Given the description of an element on the screen output the (x, y) to click on. 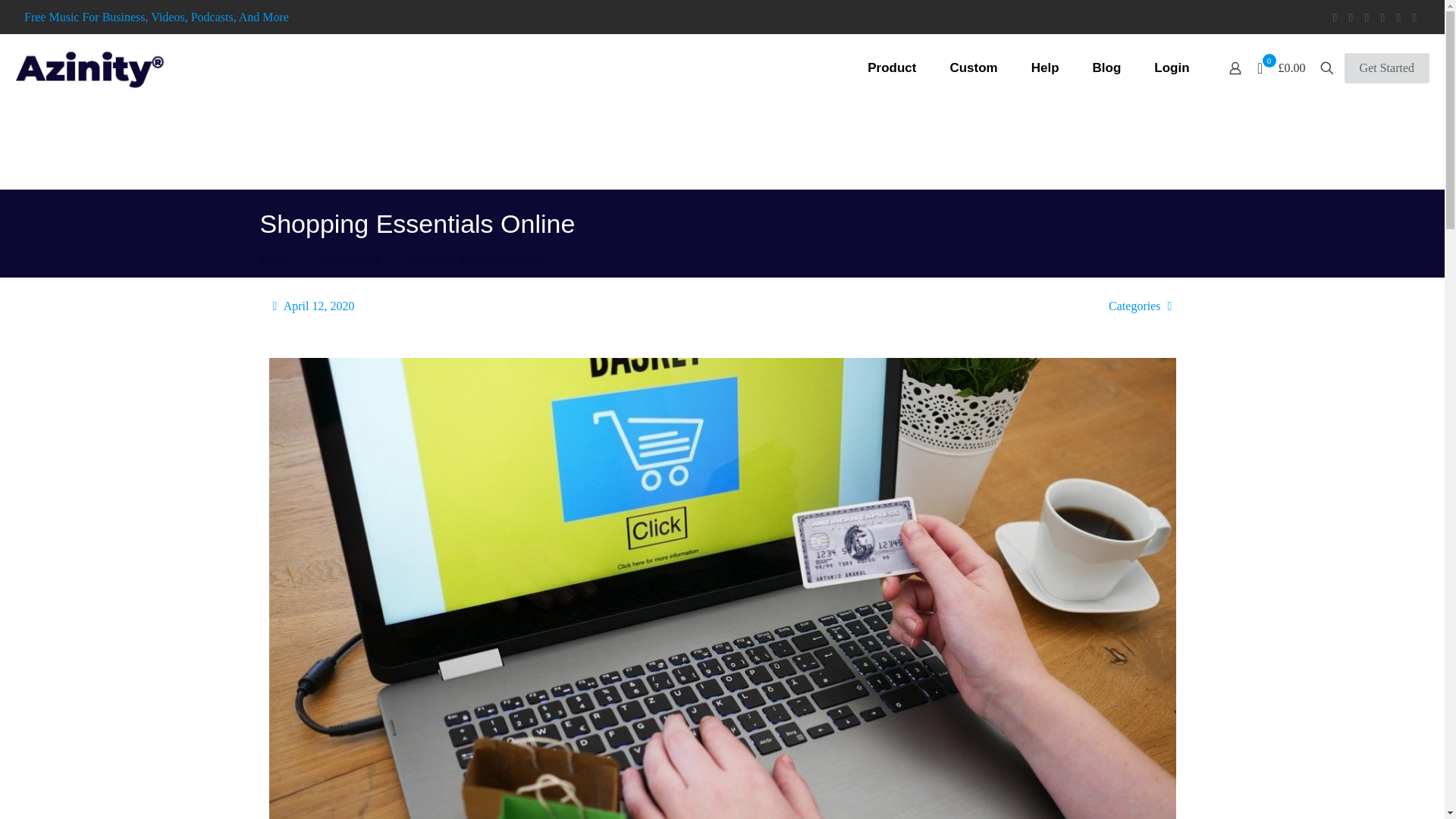
Custom (972, 67)
Product (891, 67)
Login (1171, 67)
Instagram (1399, 17)
Facebook (1334, 17)
WordPress (1415, 17)
Help (1045, 67)
Blog (1107, 67)
Free Music For Business, Videos, Podcasts, And More (156, 16)
Pinterest (1383, 17)
Cheap Website Design Service (89, 68)
LinkedIn (1367, 17)
